Given the description of an element on the screen output the (x, y) to click on. 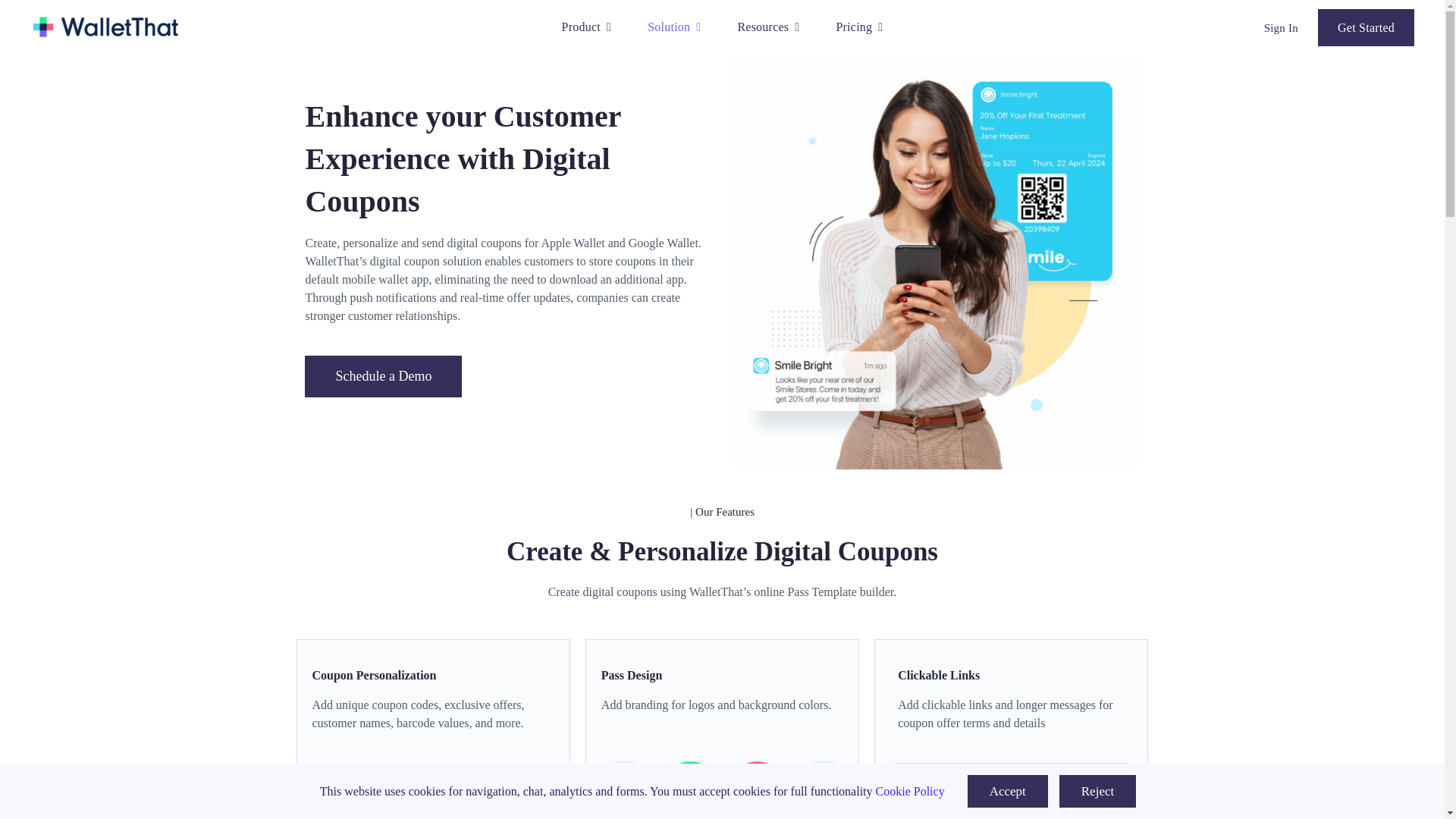
Resources (767, 27)
Design Coupons to Match Your Brand (722, 781)
Personalize Digital Coupons (433, 790)
Sign In (1280, 28)
Schedule a Demo (382, 376)
Add Clickable Links (1011, 790)
Get Started (1365, 27)
Pricing (858, 27)
Product (586, 27)
